Given the description of an element on the screen output the (x, y) to click on. 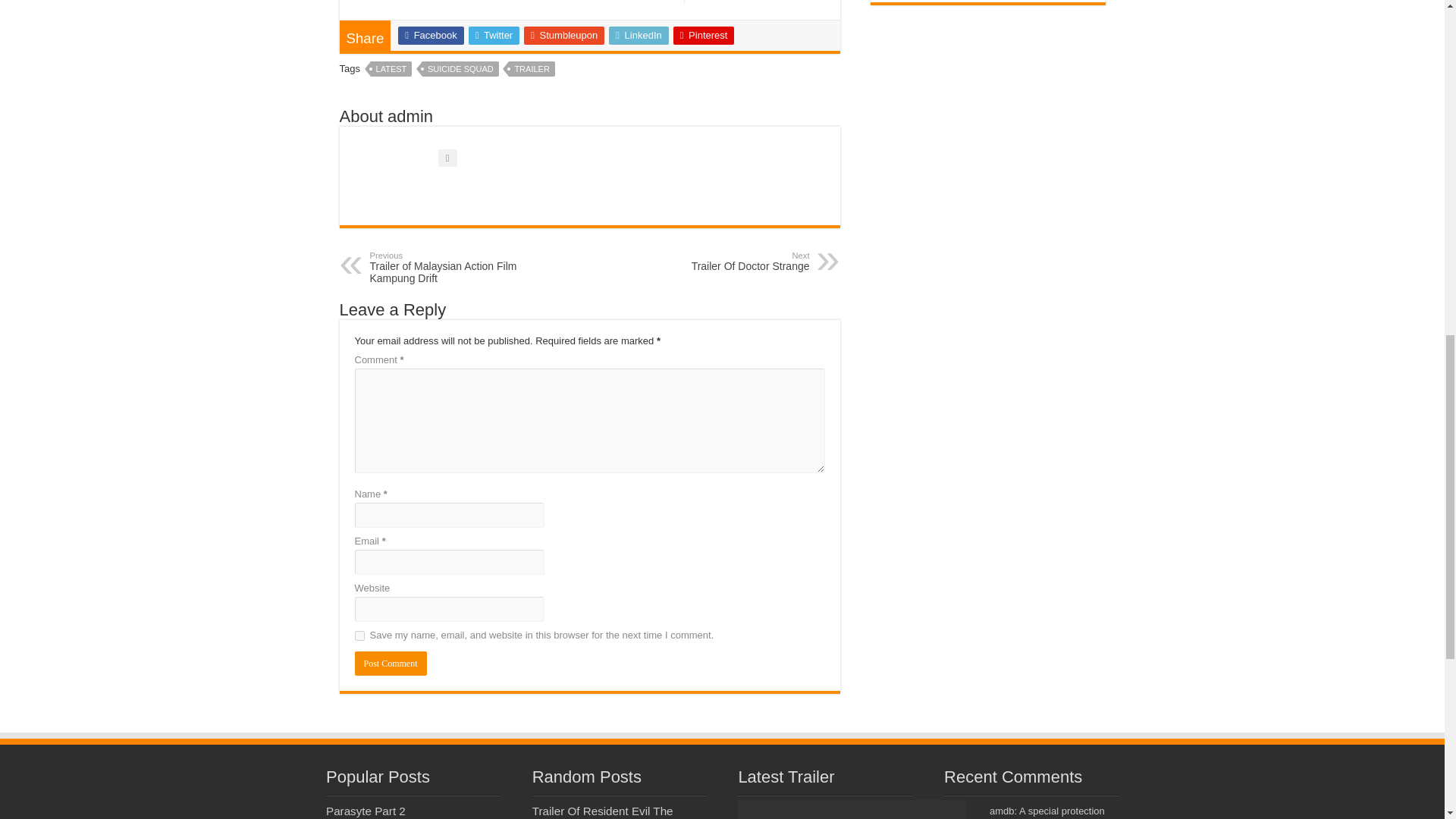
yes (360, 635)
Post Comment (390, 663)
